Given the description of an element on the screen output the (x, y) to click on. 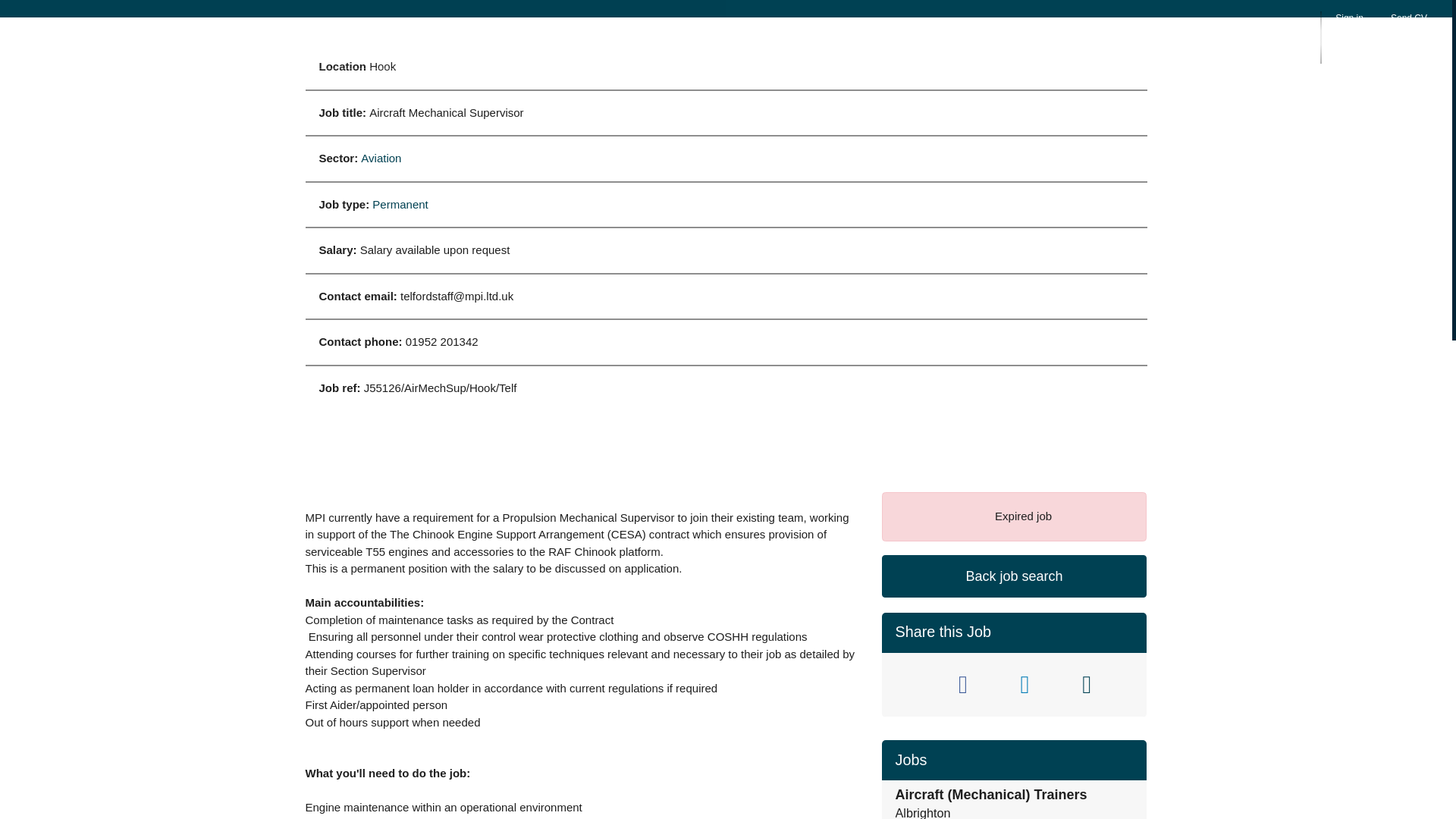
Contact (1182, 33)
Send CV (1408, 27)
News (1114, 33)
Service sectors (866, 33)
Sustainability (1032, 33)
About (776, 33)
Jobs (951, 33)
Accessibility (1268, 33)
Twitter (905, 684)
